Given the description of an element on the screen output the (x, y) to click on. 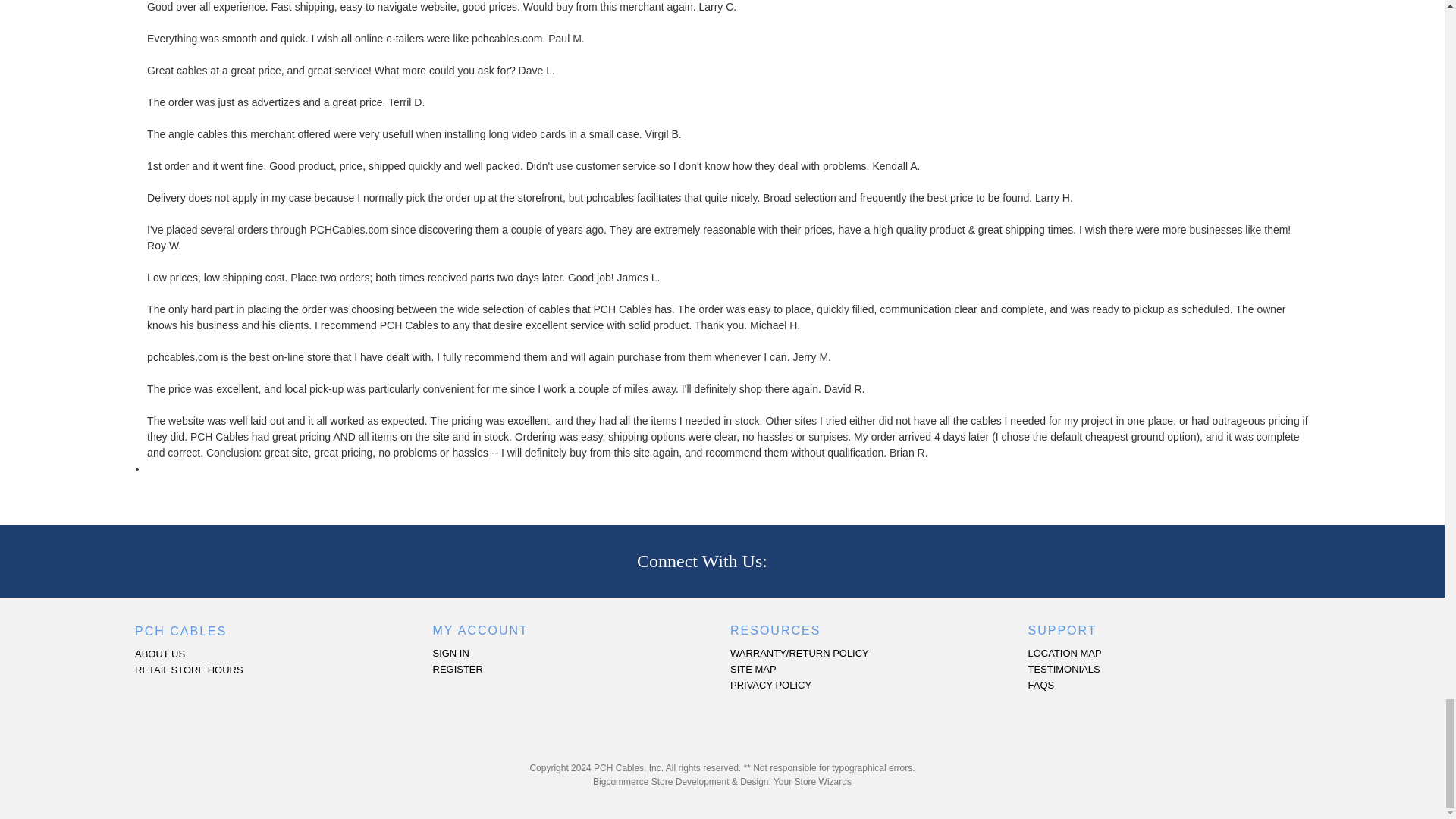
Facebook (793, 560)
